Given the description of an element on the screen output the (x, y) to click on. 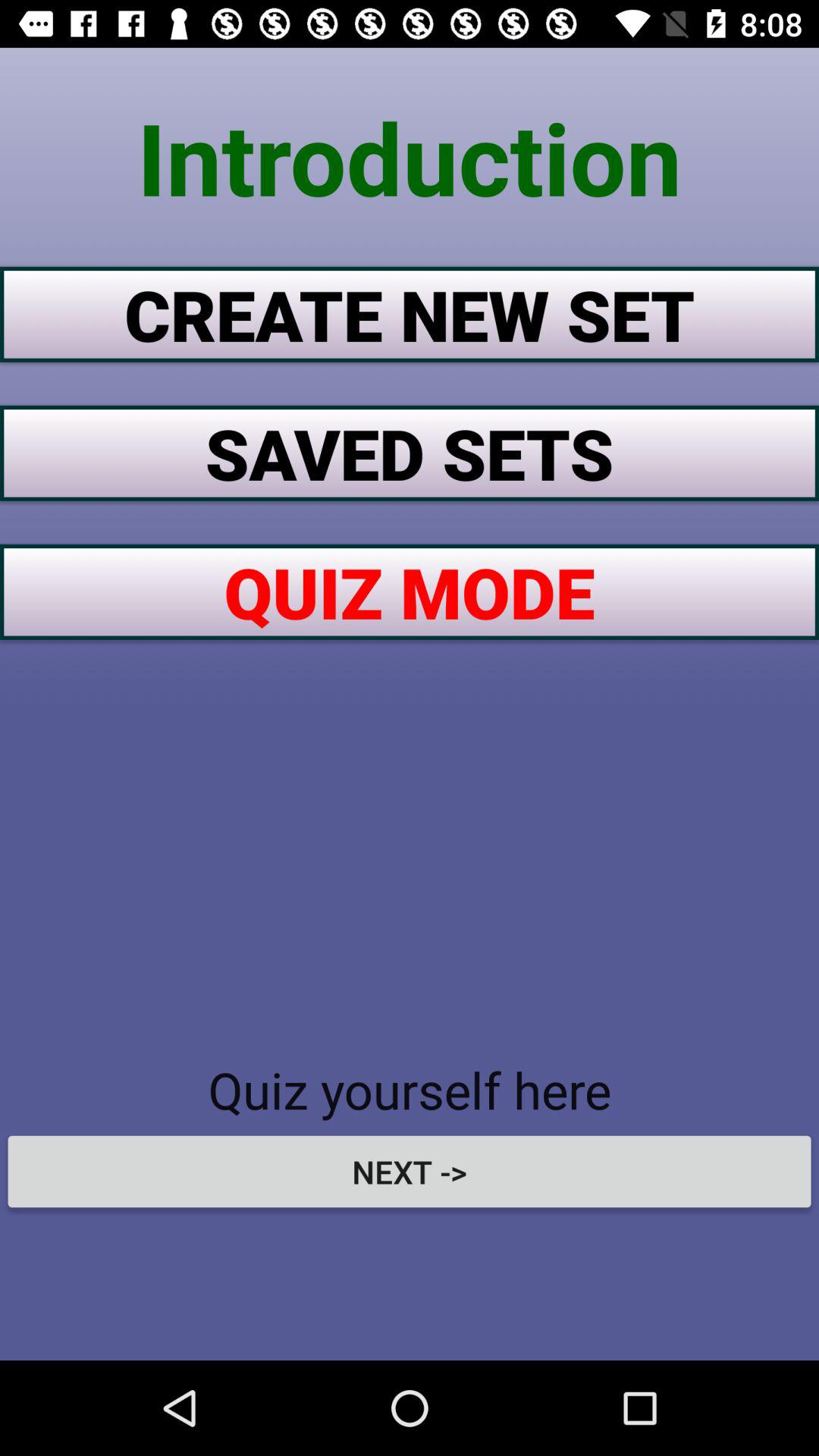
scroll to saved sets button (409, 453)
